Given the description of an element on the screen output the (x, y) to click on. 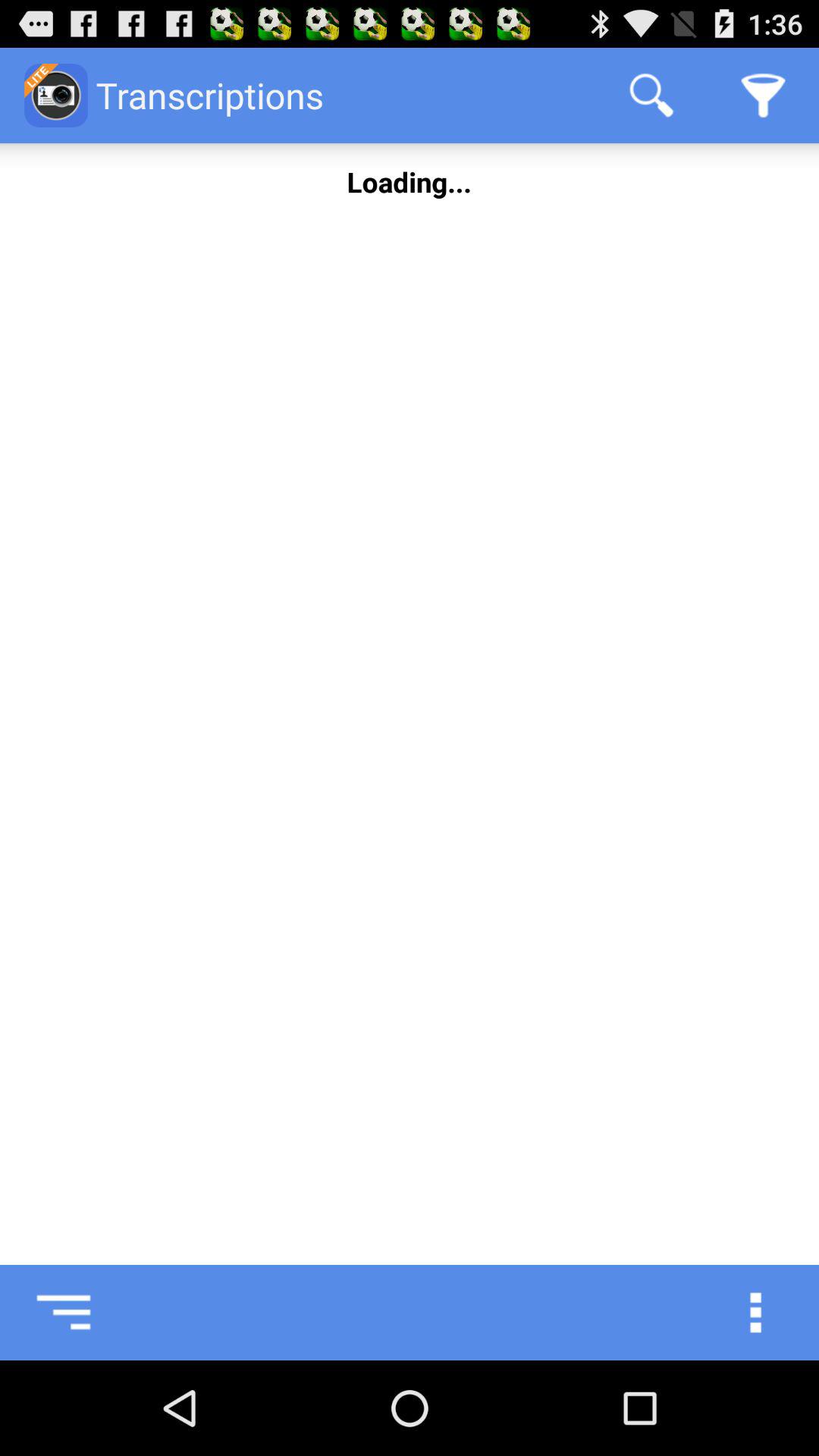
list the articles (47, 1312)
